Given the description of an element on the screen output the (x, y) to click on. 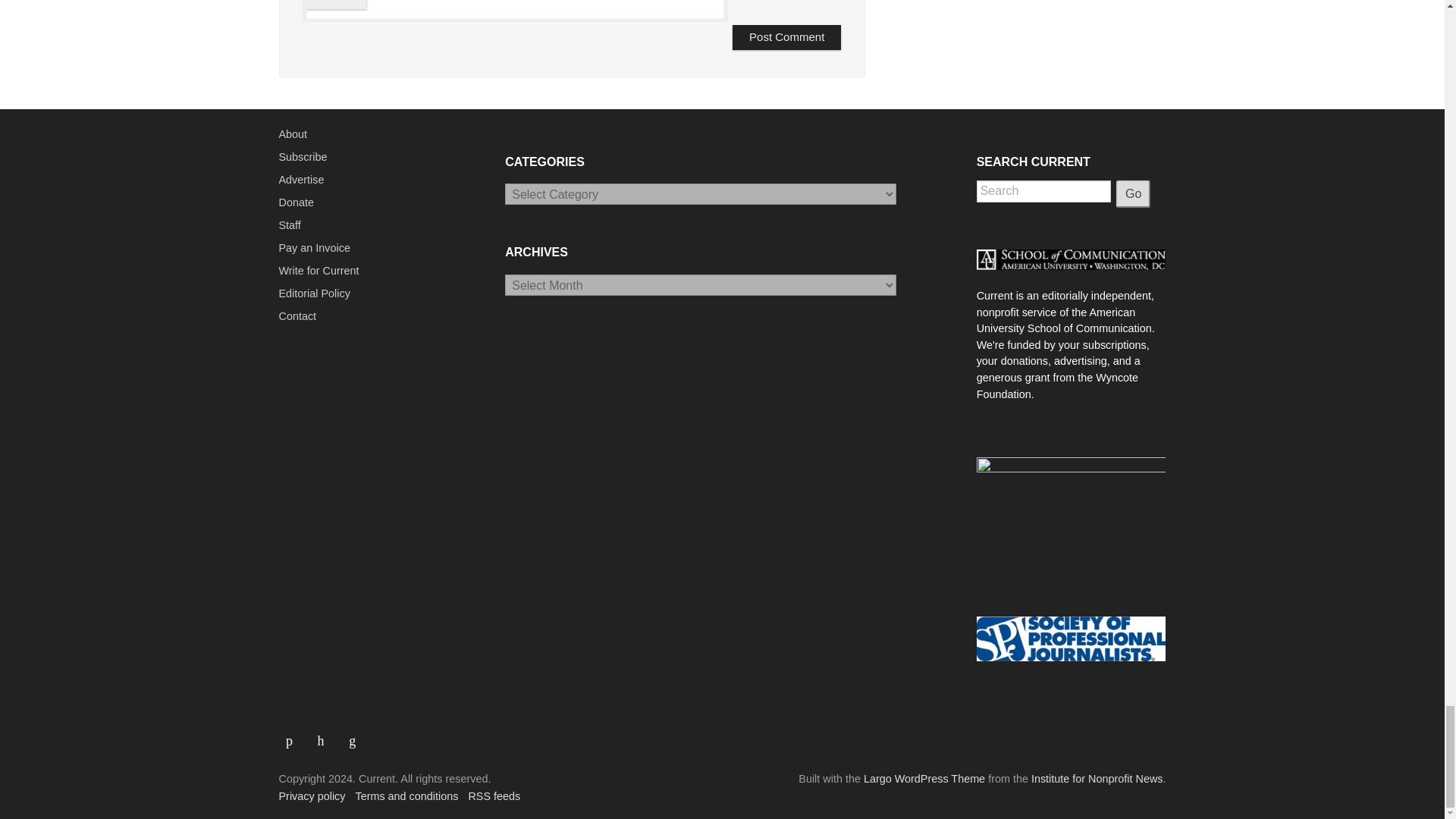
Link to Twitter Page (326, 734)
Link to Facebook Profile (295, 734)
Post Comment (786, 37)
